Given the description of an element on the screen output the (x, y) to click on. 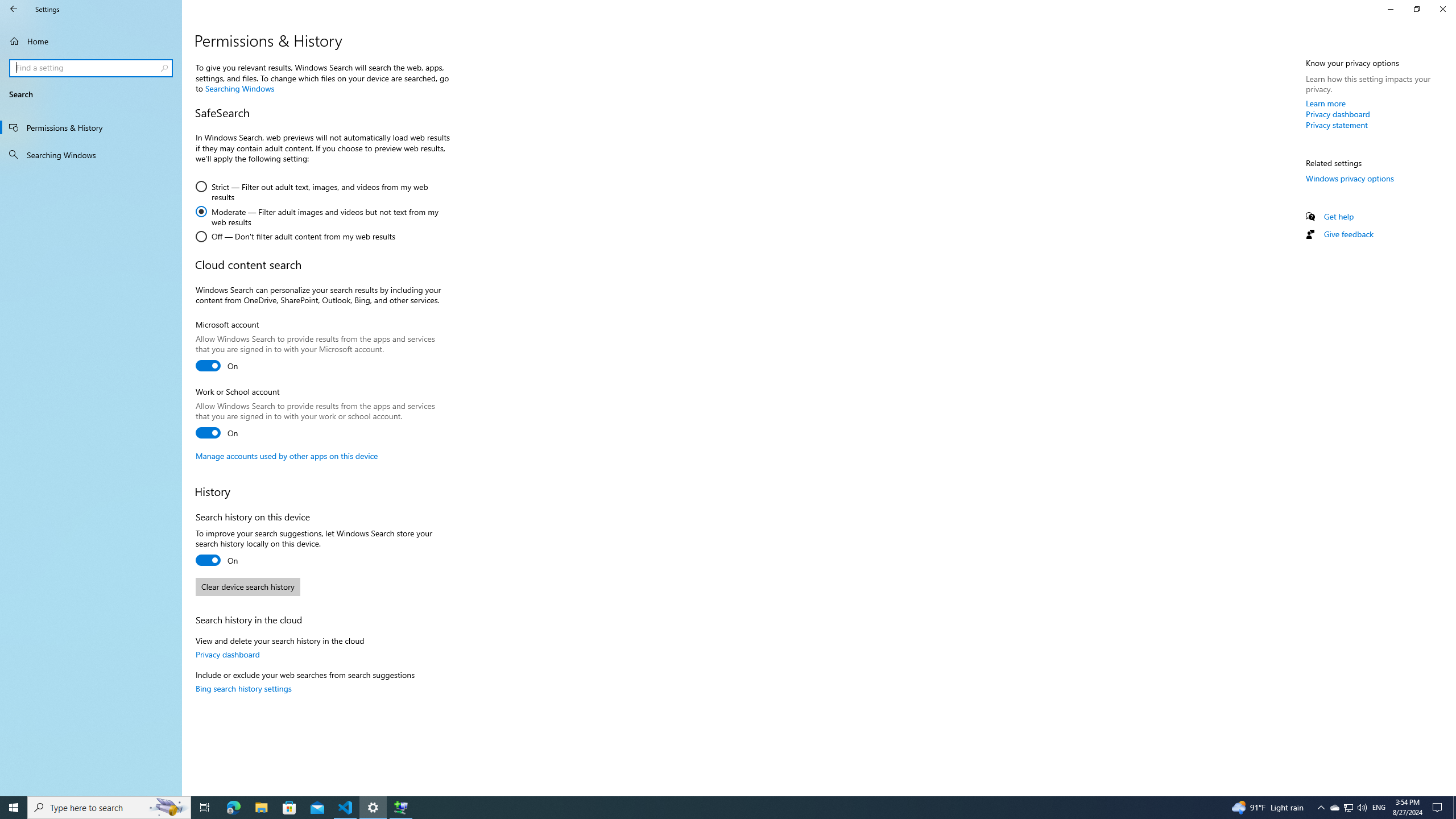
Extensible Wizards Host Process - 1 running window (400, 807)
Close Settings (1442, 9)
Learn more (1326, 102)
Searching Windows (91, 154)
Minimize Settings (1390, 9)
Microsoft account (216, 365)
Back (13, 9)
Work or School account (216, 432)
Permissions & History (91, 126)
